Given the description of an element on the screen output the (x, y) to click on. 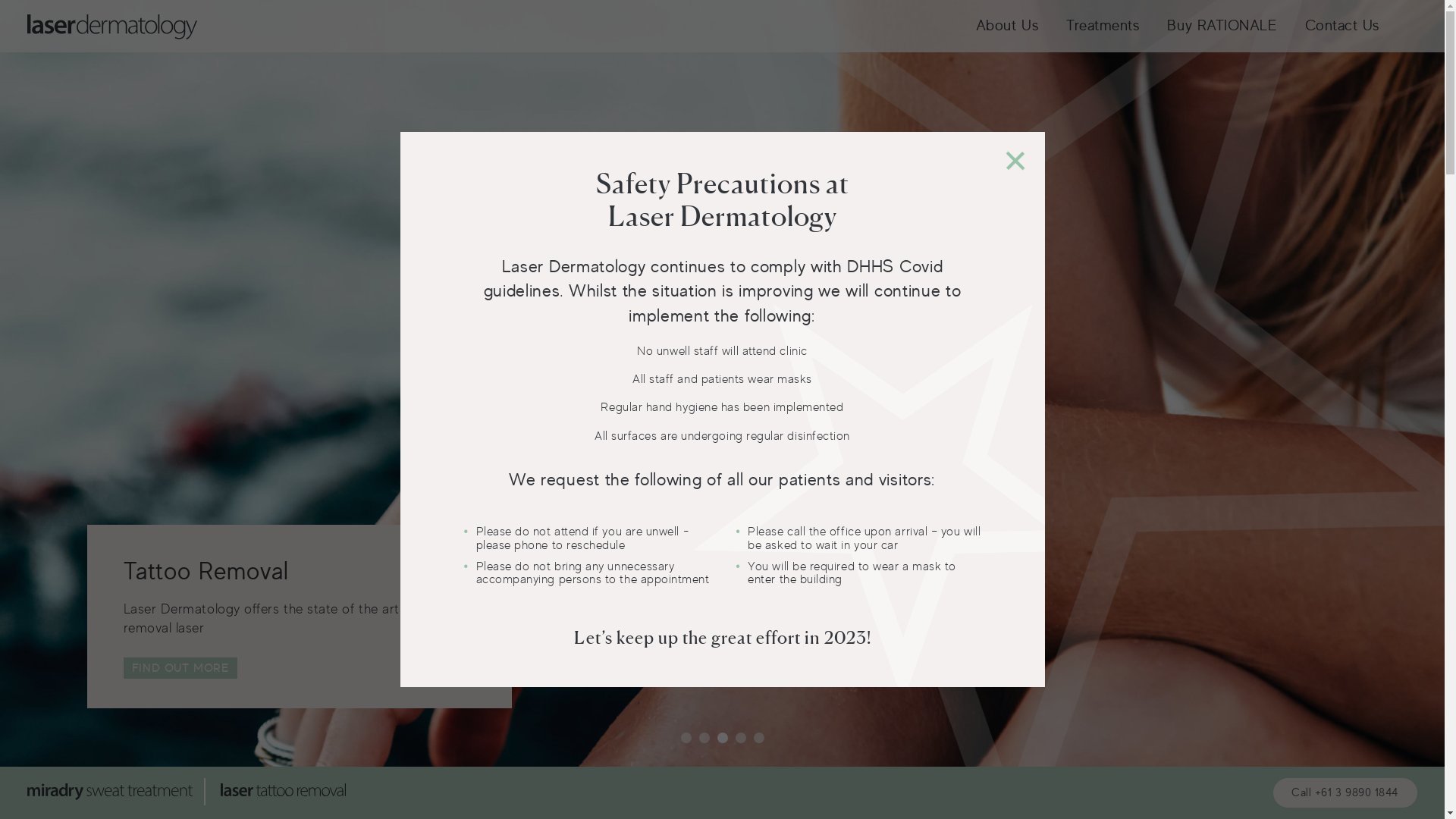
Laser Element type: text (112, 27)
+ Element type: text (991, 159)
miraDry Laser Dermatology Element type: hover (121, 792)
Call +61 3 9890 1844 Element type: text (1345, 792)
Treatments Element type: text (1102, 25)
About Us Element type: text (1007, 25)
FIND OUT MORE Element type: text (179, 667)
Tattoo Laser Dermatology Element type: hover (282, 792)
Contact Us Element type: text (1341, 25)
Buy RATIONALE Element type: text (1221, 25)
